Given the description of an element on the screen output the (x, y) to click on. 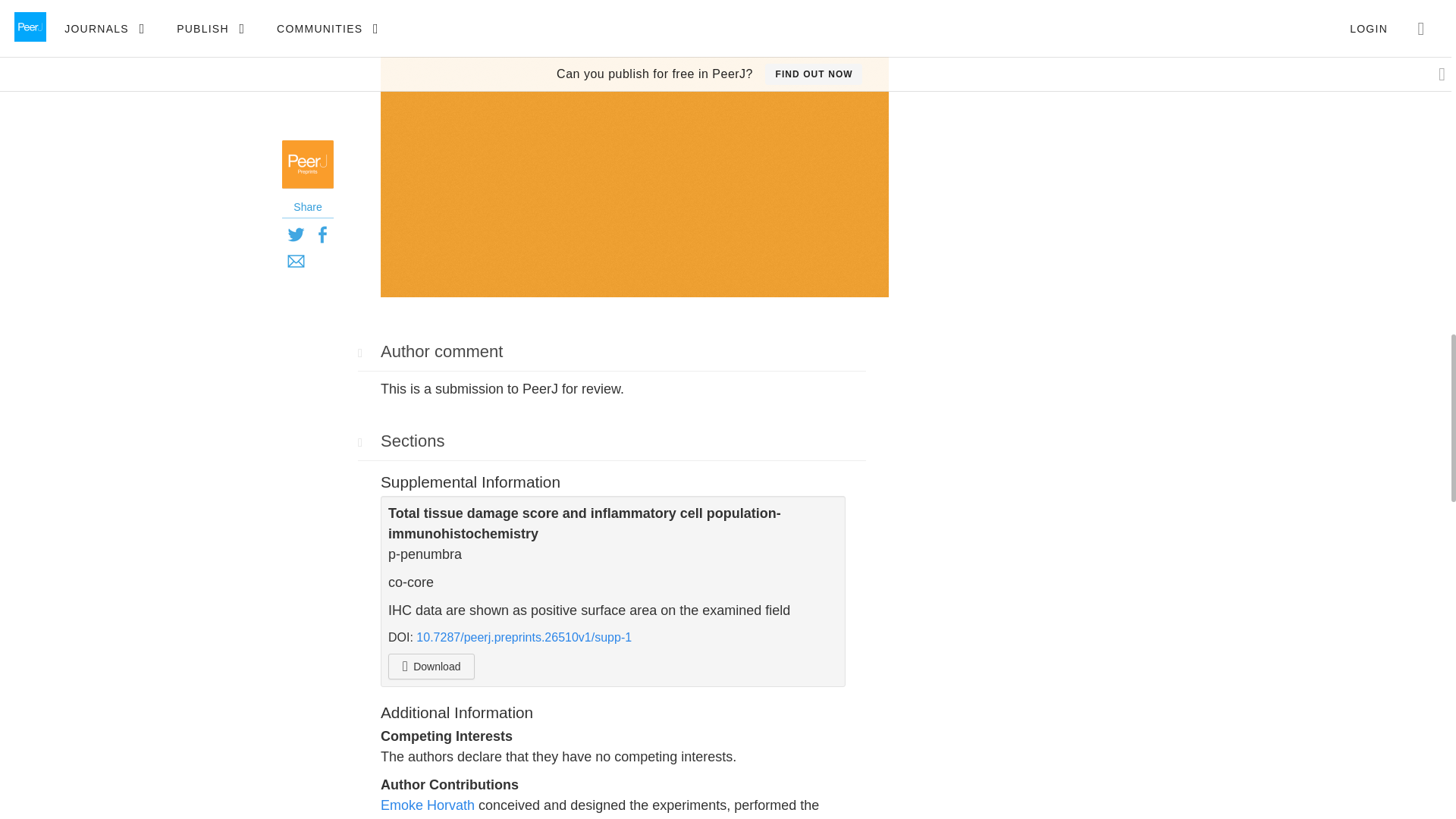
  Download (431, 666)
Emoke Horvath (427, 805)
